Given the description of an element on the screen output the (x, y) to click on. 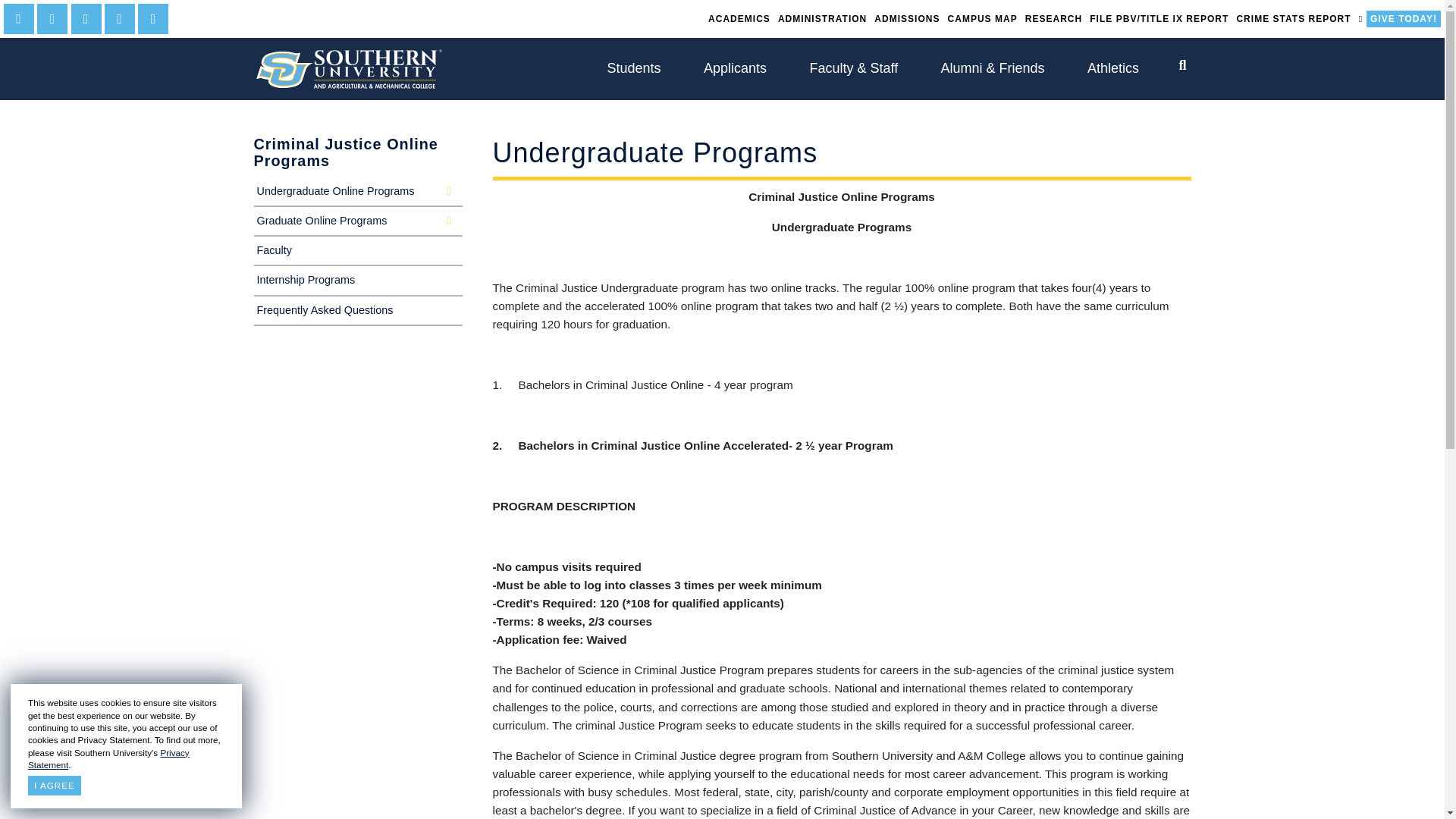
GIVE TODAY! (1404, 18)
RESEARCH (1054, 18)
Privacy Statement (108, 758)
ACADEMICS (739, 18)
CAMPUS MAP (982, 18)
I AGREE (54, 785)
ADMISSIONS (906, 18)
CRIME STATS REPORT (1292, 18)
ADMINISTRATION (822, 18)
Students (633, 68)
